Given the description of an element on the screen output the (x, y) to click on. 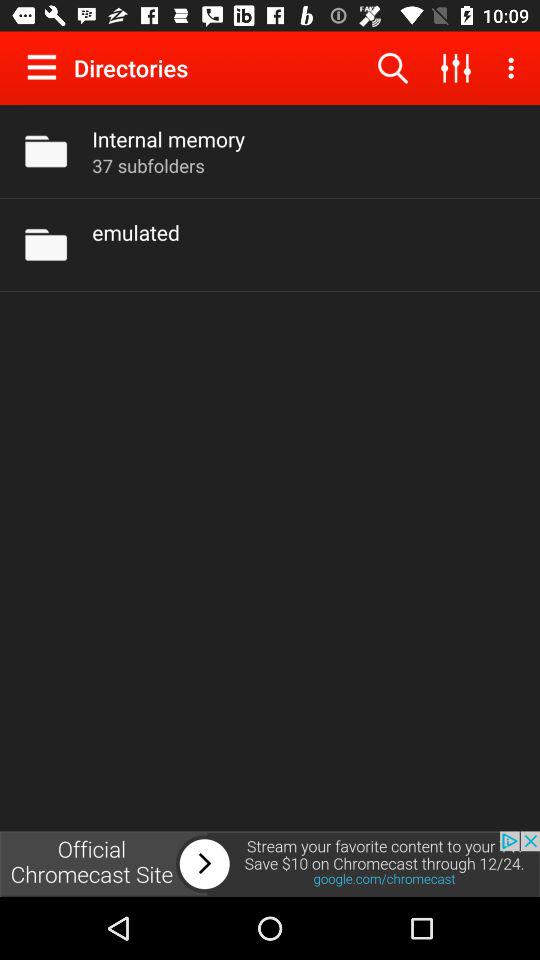
click for menu (46, 67)
